Given the description of an element on the screen output the (x, y) to click on. 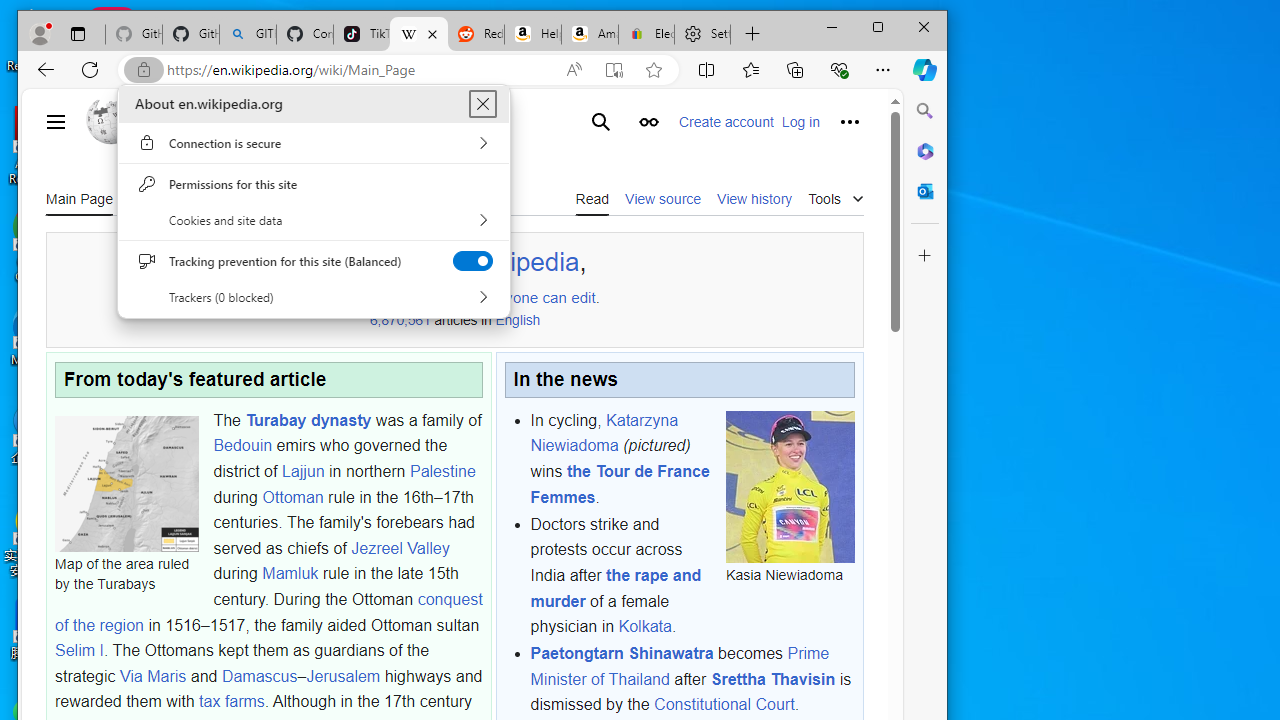
Katarzyna Niewiadoma (603, 433)
Lajjun (303, 471)
Cookies and site data (314, 220)
Personal tools (849, 122)
Kasia Niewiadoma (790, 486)
Palestine (442, 471)
the rape and murder (615, 587)
Log in (800, 121)
